Given the description of an element on the screen output the (x, y) to click on. 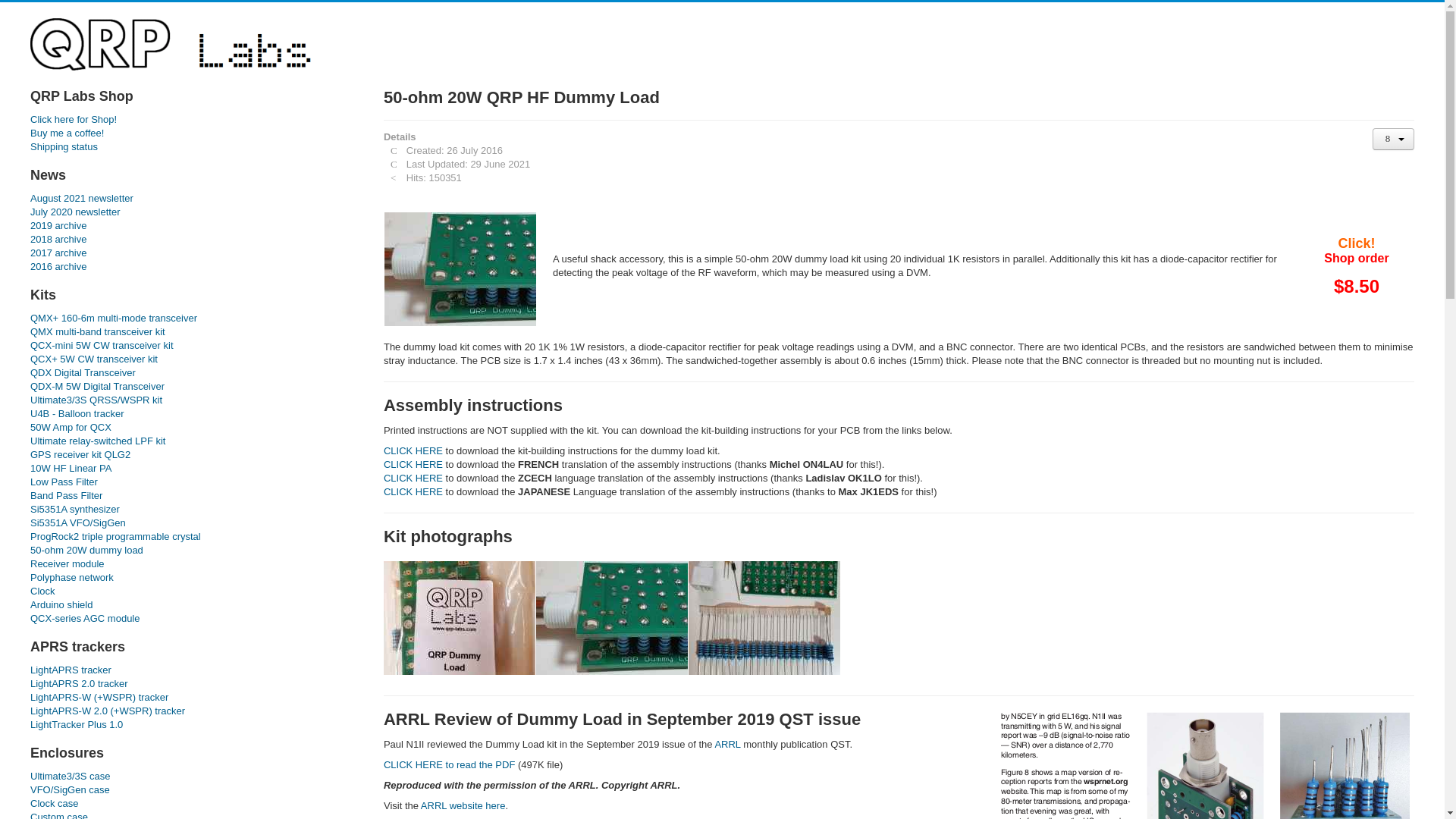
Click here for Shop! (191, 119)
2016 archive (191, 266)
QDX Digital Transceiver (191, 373)
QCX-series AGC module (191, 618)
2018 archive (191, 239)
LightAPRS tracker (191, 670)
10W HF Linear PA (191, 468)
LightAPRS 2.0 tracker (191, 684)
You are viewing the image with filename 1.jpg (459, 617)
Arduino shield (191, 604)
GPS receiver kit QLG2 (191, 454)
Low Pass Filter (191, 481)
You are viewing the image with filename 10.jpg (459, 268)
QDX-M 5W Digital Transceiver (191, 386)
LightTracker Plus 1.0 (191, 725)
